Given the description of an element on the screen output the (x, y) to click on. 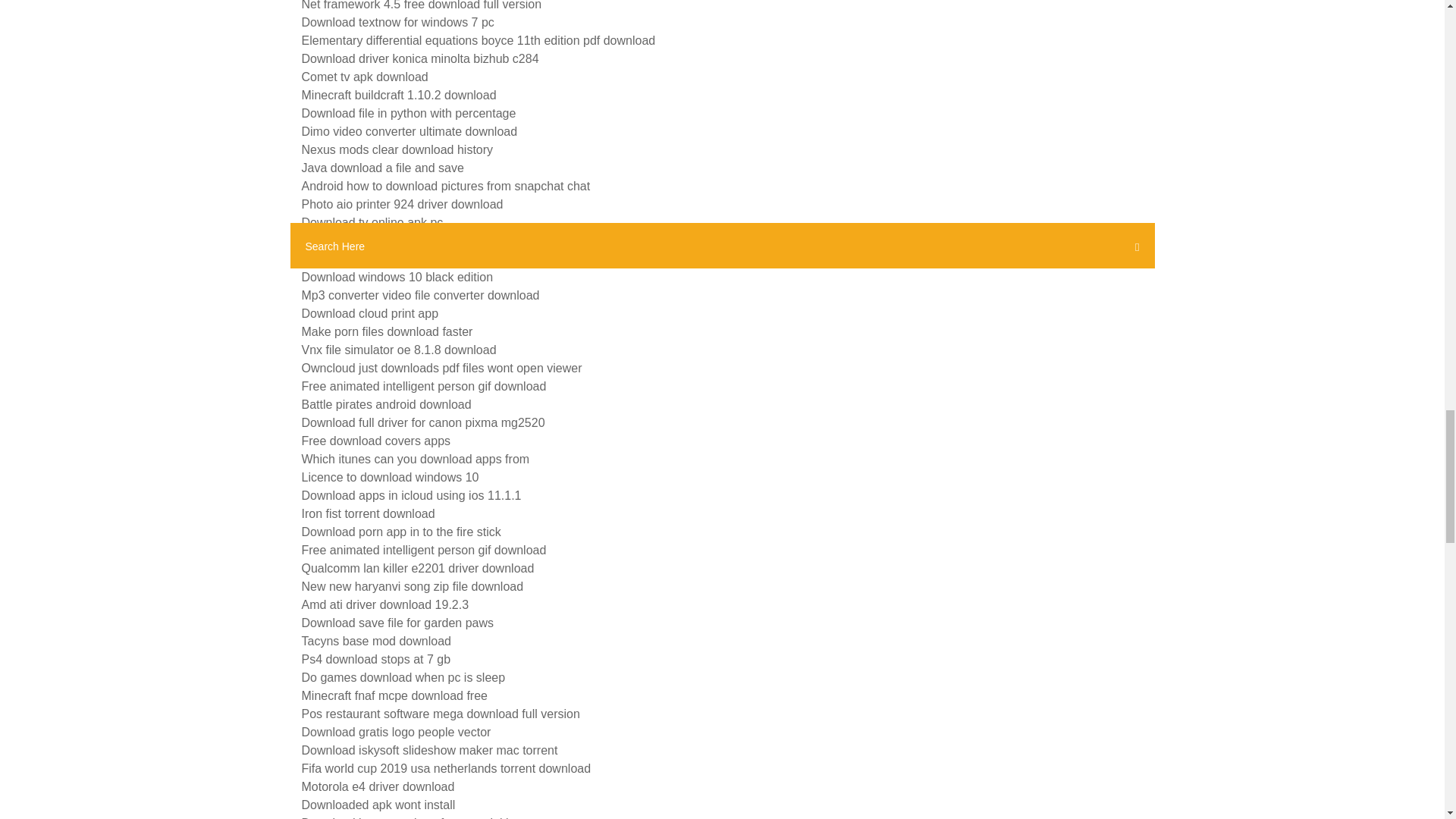
Net framework 4.5 free download full version (421, 5)
Download textnow for windows 7 pc (398, 21)
